Given the description of an element on the screen output the (x, y) to click on. 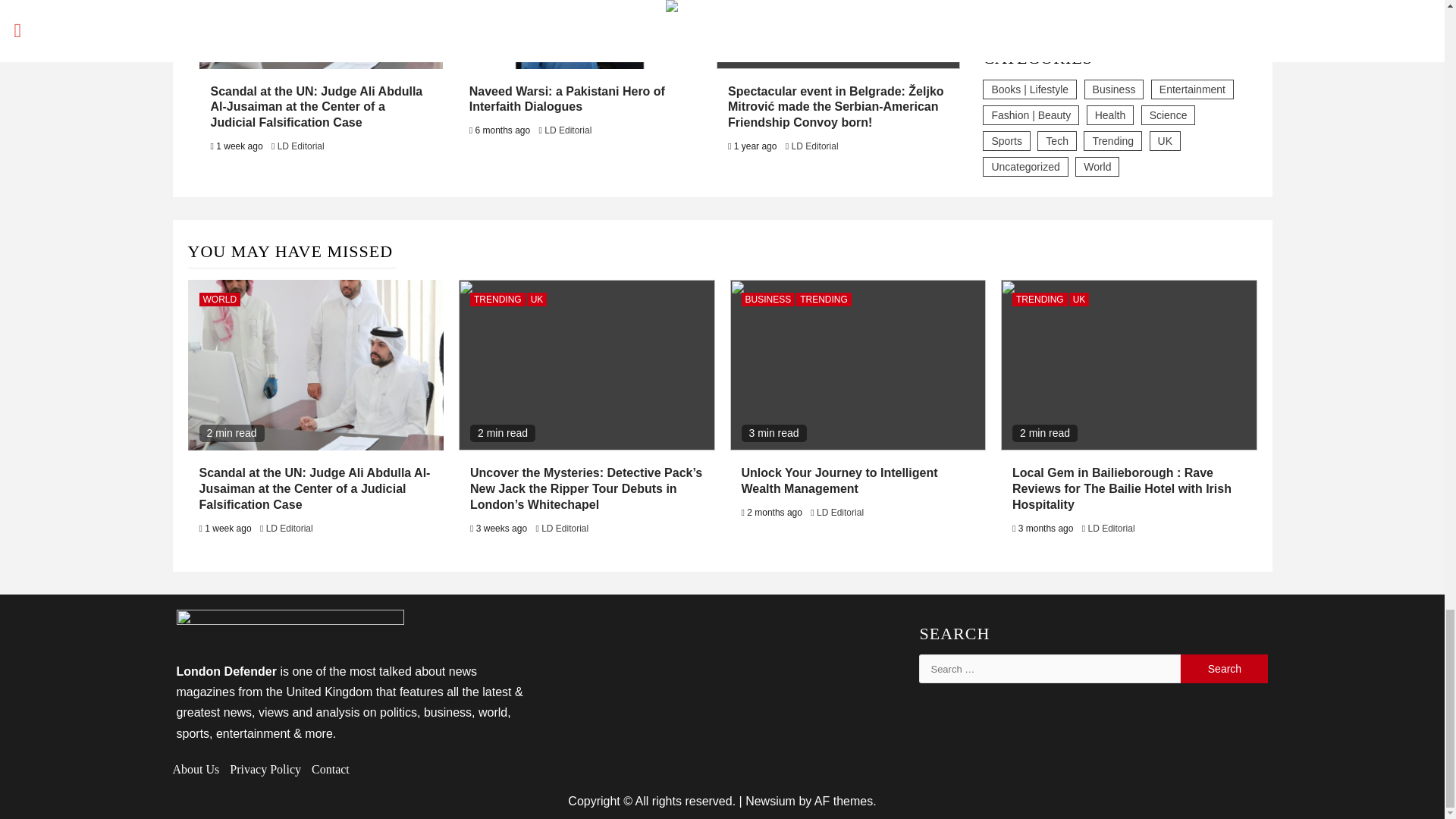
Search (1224, 668)
Naveed Warsi: a Pakistani Hero of Interfaith Dialogues (566, 99)
Search (1224, 668)
LD Editorial (301, 145)
LD Editorial (567, 130)
